Given the description of an element on the screen output the (x, y) to click on. 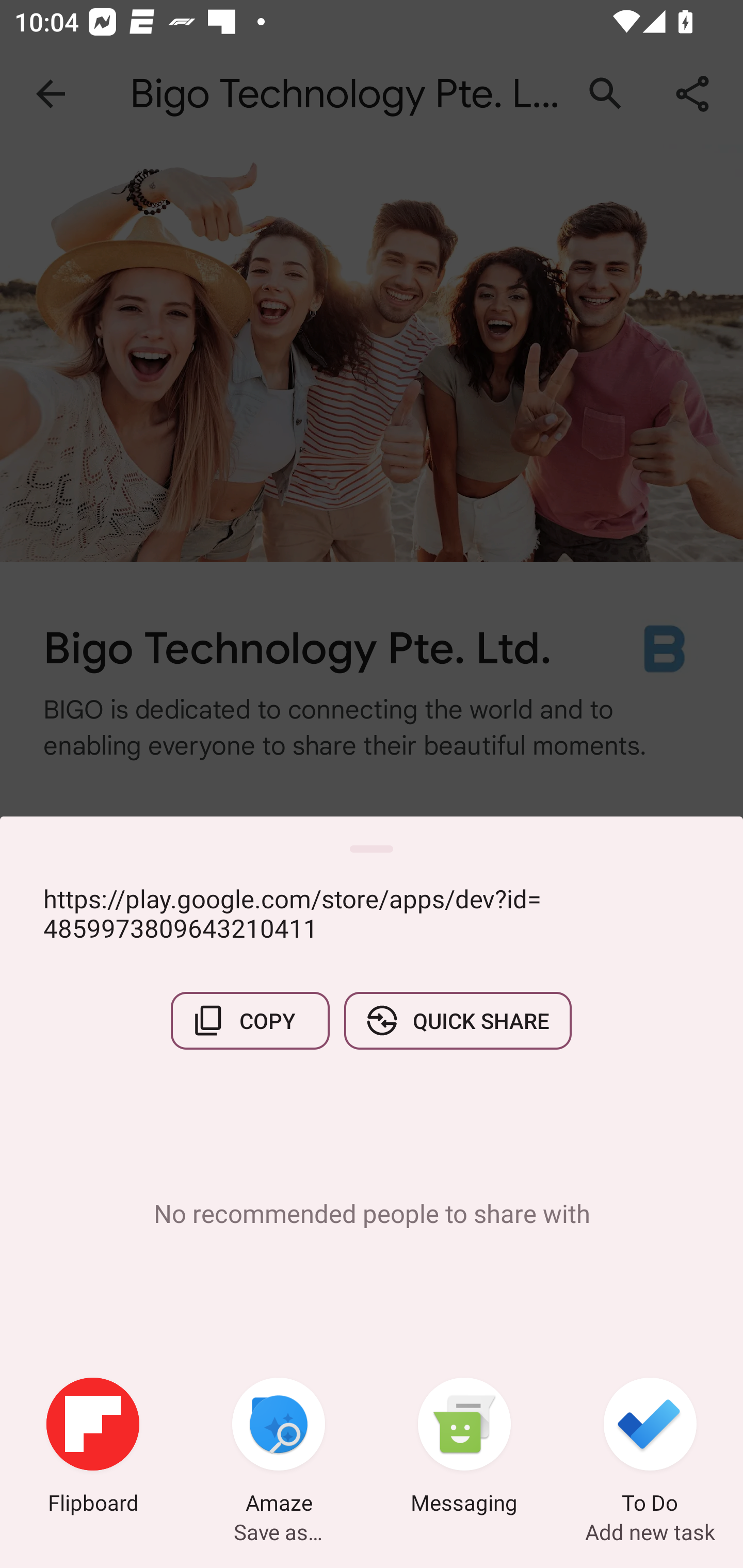
COPY (249, 1020)
QUICK SHARE (457, 1020)
Flipboard (92, 1448)
Amaze Save as… (278, 1448)
Messaging (464, 1448)
To Do Add new task (650, 1448)
